Given the description of an element on the screen output the (x, y) to click on. 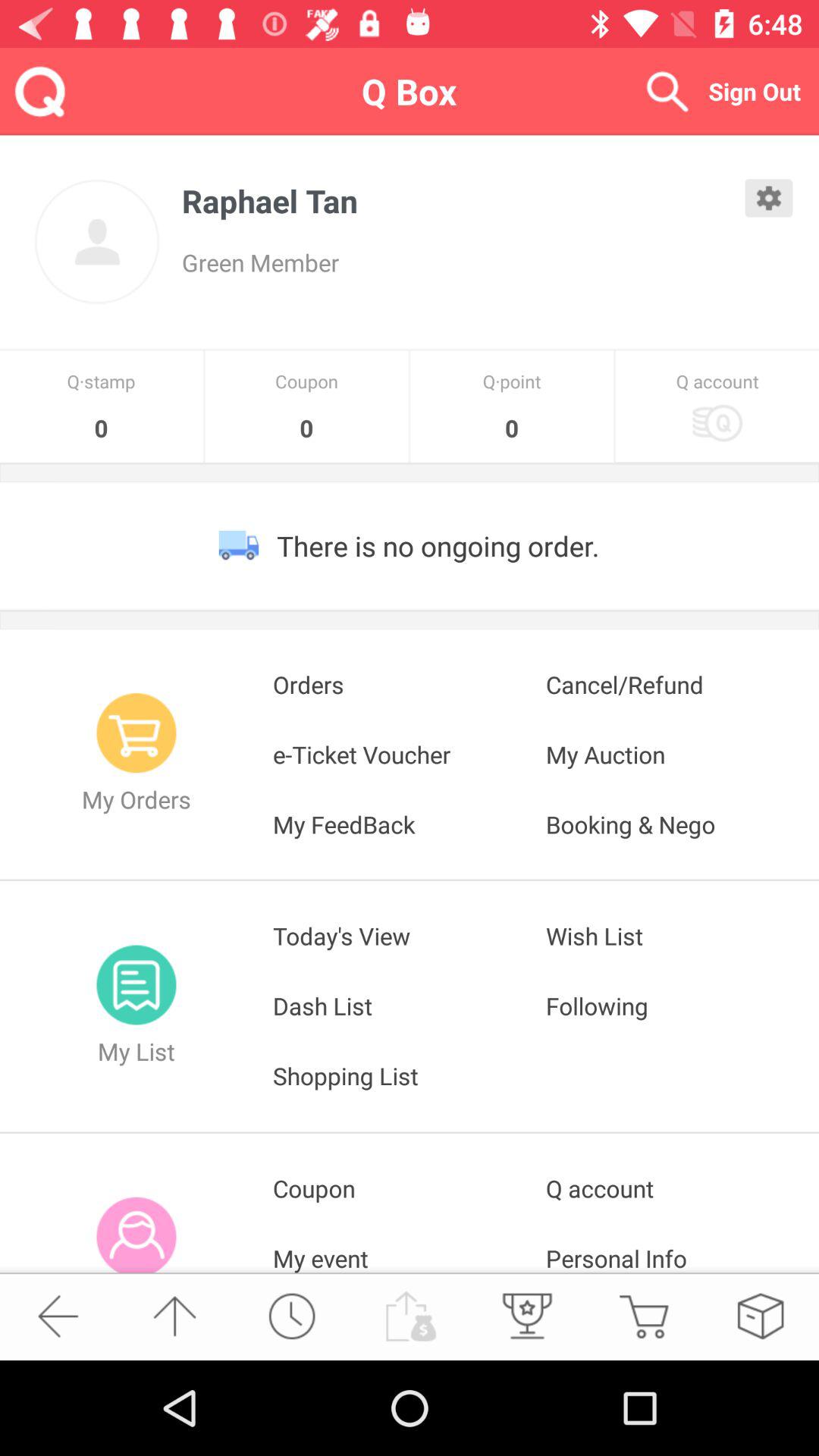
go to top of the page (174, 1316)
